Given the description of an element on the screen output the (x, y) to click on. 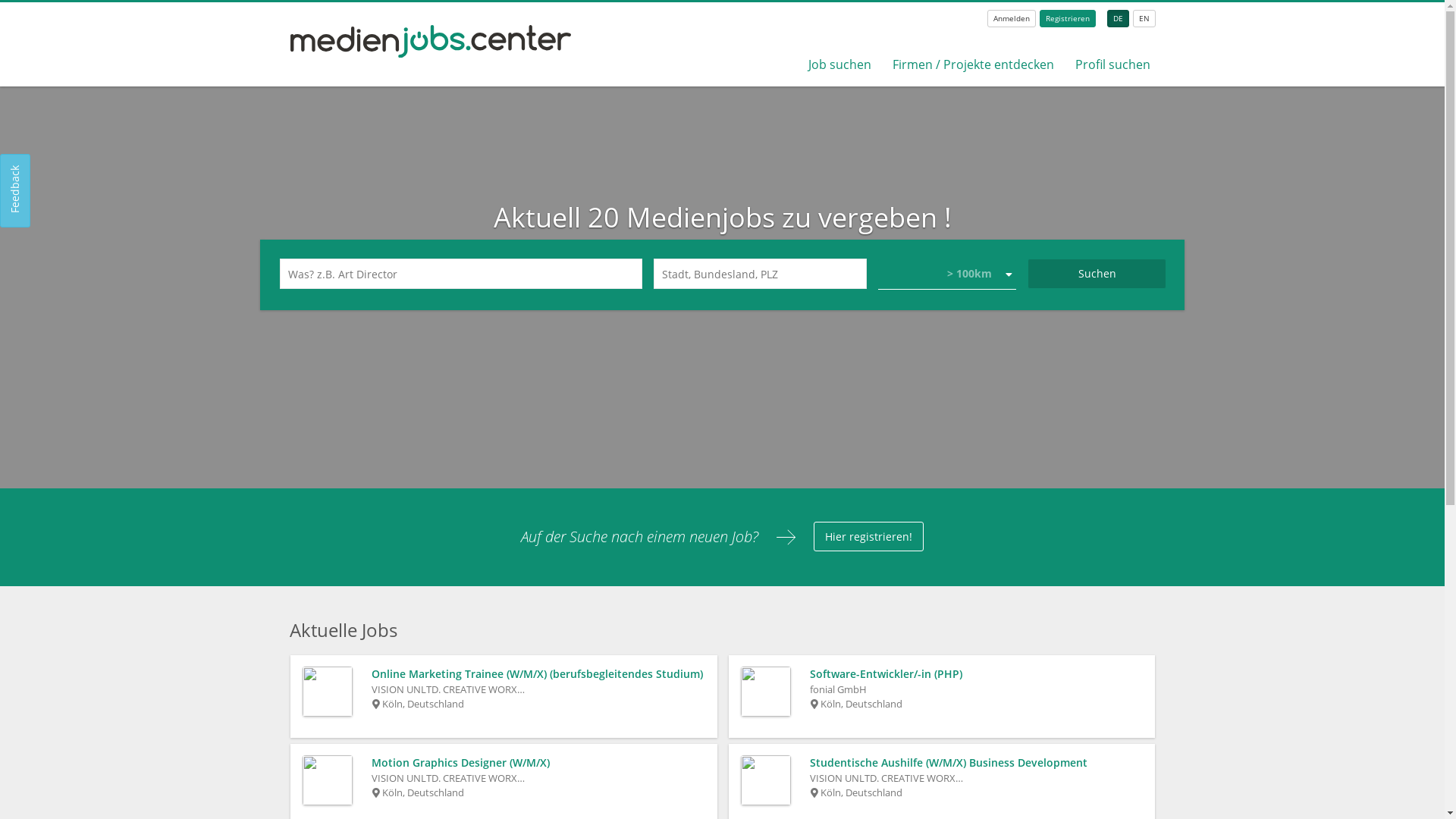
Software-Entwickler/-in (PHP) Element type: text (976, 673)
fonial GmbH Element type: text (837, 689)
Feedback Element type: text (36, 168)
Suchen Element type: text (1096, 273)
Motion Graphics Designer (W/M/X) Element type: text (538, 762)
Job suchen Element type: text (839, 64)
DE Element type: text (1118, 18)
Studentische Aushilfe (W/M/X) Business Development Element type: text (976, 762)
Firmen / Projekte entdecken Element type: text (972, 64)
Medien Job Center Element type: text (430, 53)
Registrieren Element type: text (1067, 18)
Hier registrieren! Element type: text (868, 536)
Profil suchen Element type: text (1112, 64)
EN Element type: text (1143, 18)
Anmelden Element type: text (1011, 18)
